Given the description of an element on the screen output the (x, y) to click on. 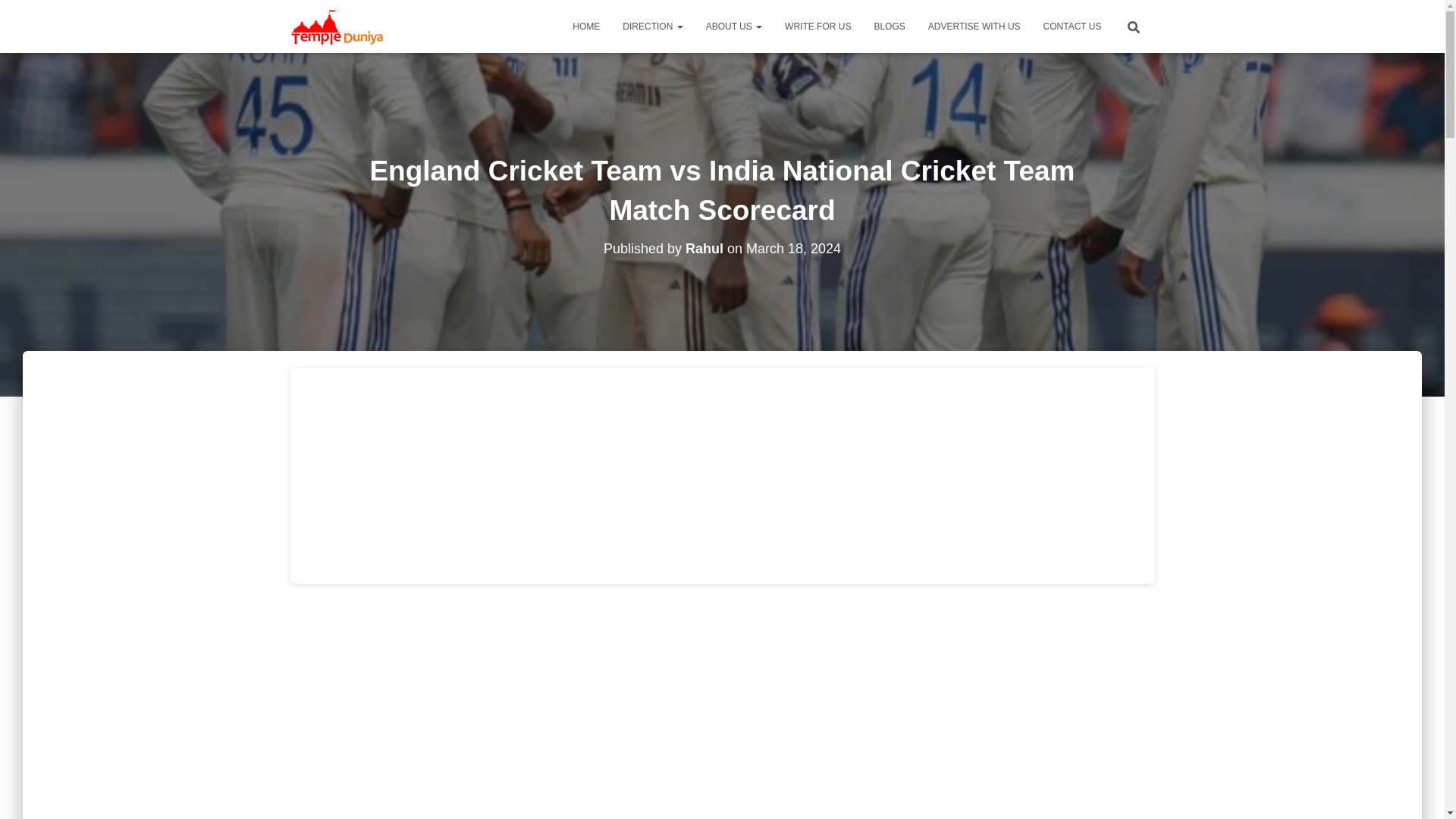
Templeduniya (338, 26)
HOME (585, 26)
DIRECTION (652, 26)
DIRECTION (652, 26)
HOME (585, 26)
